Given the description of an element on the screen output the (x, y) to click on. 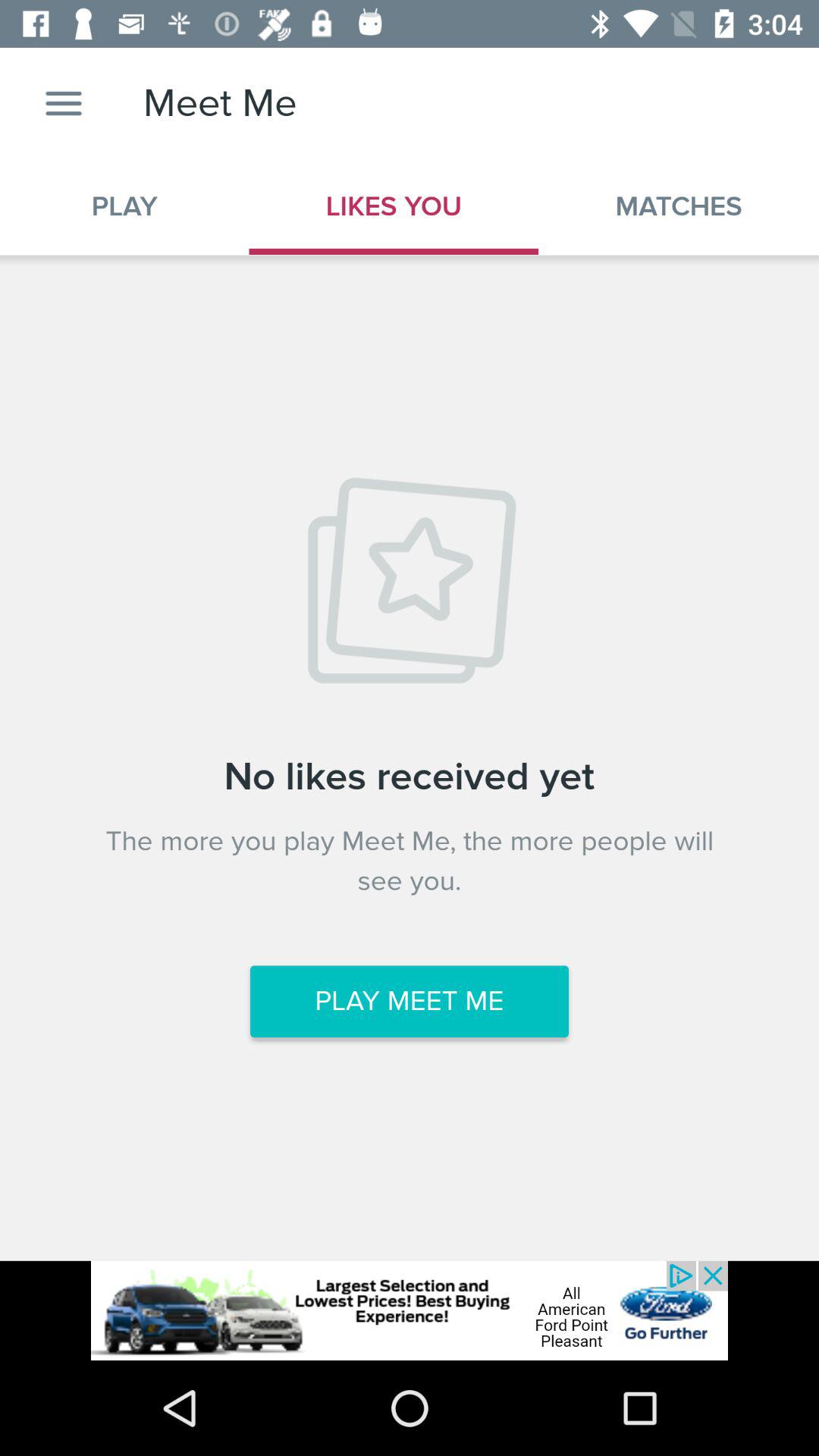
setting option (63, 103)
